Given the description of an element on the screen output the (x, y) to click on. 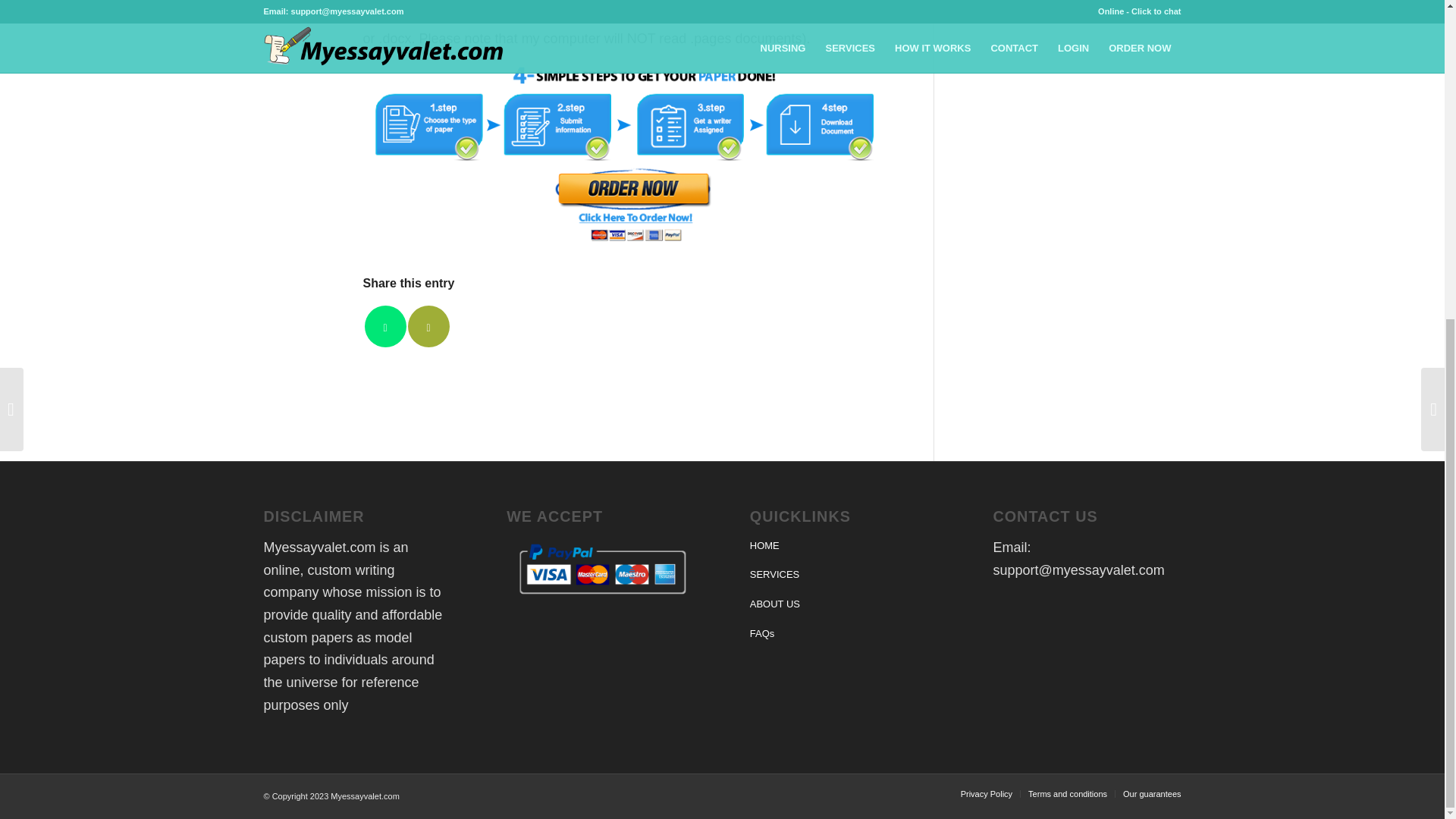
Terms and conditions (1066, 793)
Privacy Policy (985, 793)
HOME (843, 546)
FAQs (843, 634)
Our guarantees (1151, 793)
ABOUT US (843, 604)
SERVICES (843, 574)
